Given the description of an element on the screen output the (x, y) to click on. 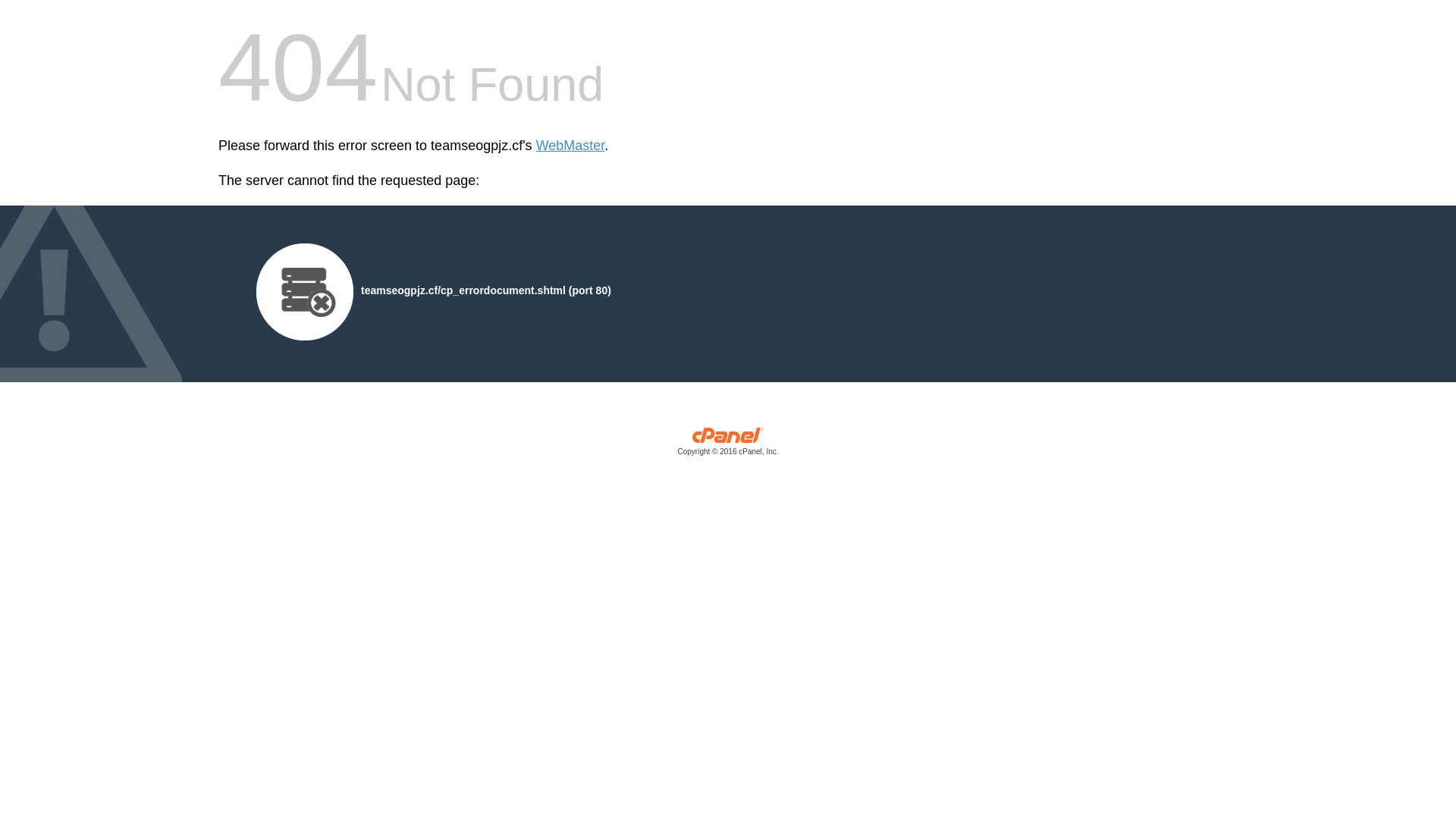
WebMaster Element type: text (570, 145)
